Given the description of an element on the screen output the (x, y) to click on. 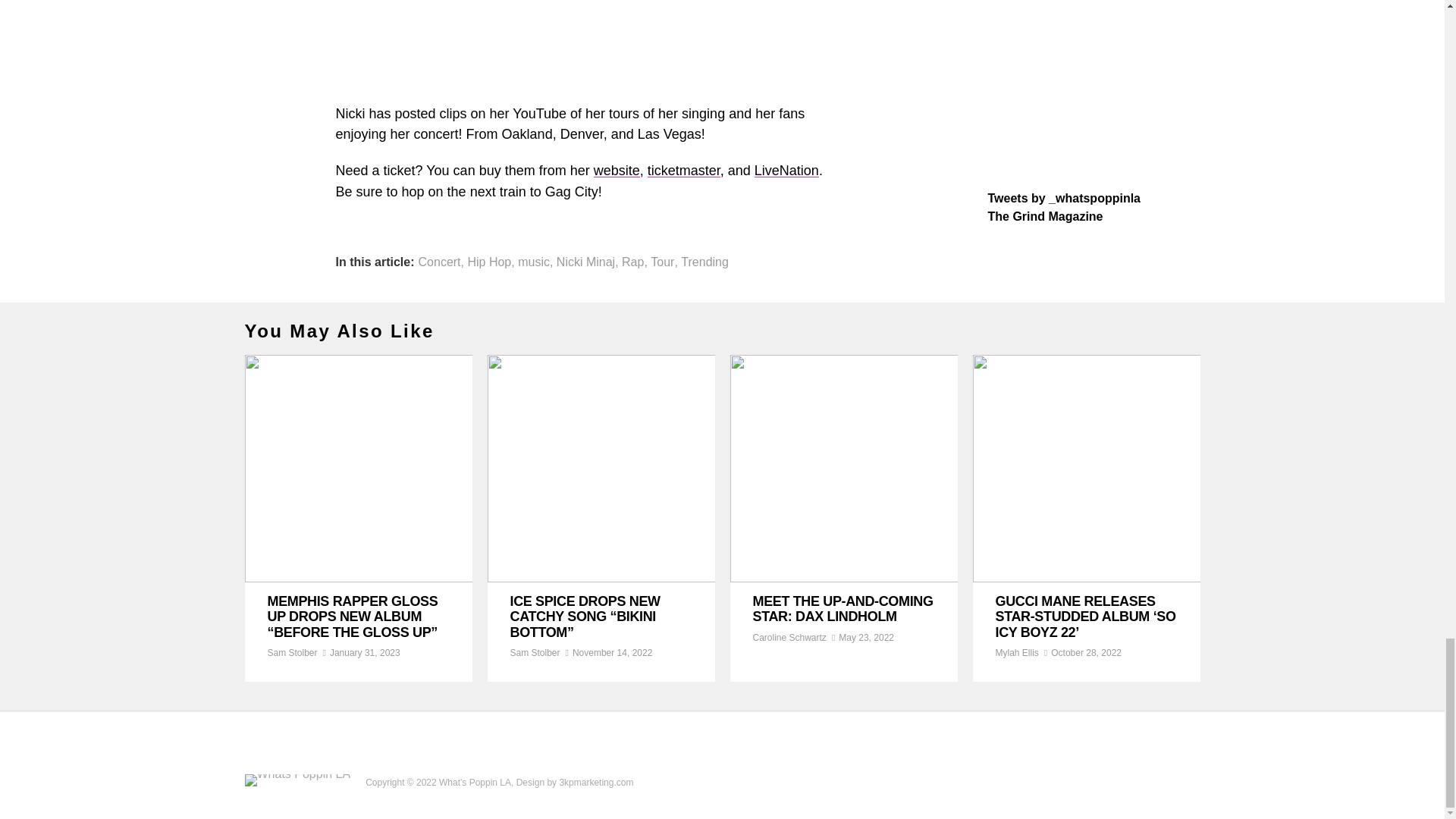
Trending (705, 262)
Tour (662, 262)
website (617, 170)
music (534, 262)
Posts by Mylah Ellis (1016, 652)
Posts by Caroline Schwartz (788, 637)
Rap (632, 262)
Posts by Sam Stolber (534, 652)
Concert (440, 262)
Nicki Minaj (585, 262)
Hip Hop (489, 262)
LiveNation (786, 170)
Posts by Sam Stolber (291, 652)
ticketmaster (683, 170)
